Given the description of an element on the screen output the (x, y) to click on. 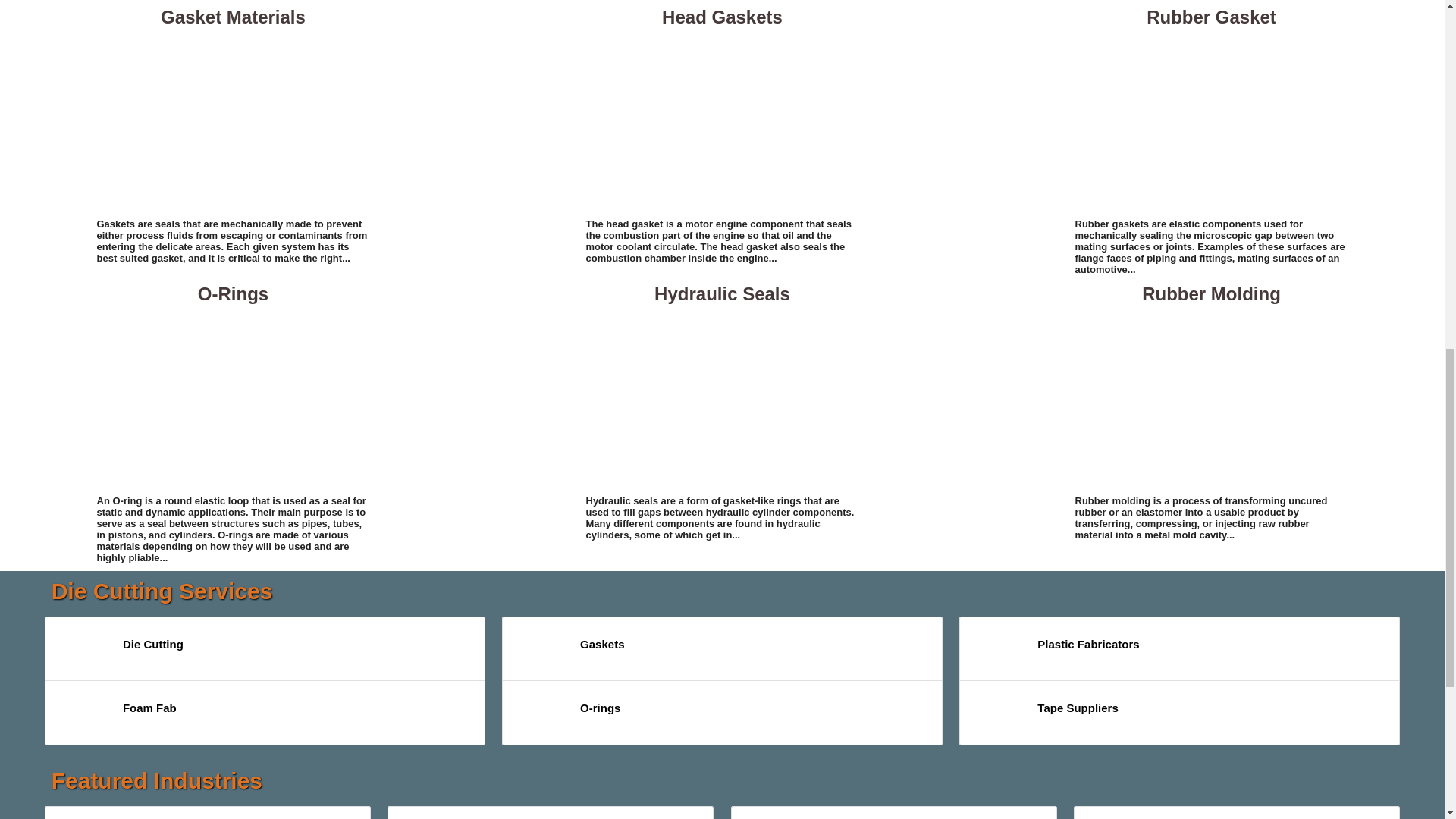
Rubber Gasket (1211, 121)
Gaskets (541, 651)
Foam Fabricating (84, 715)
O-Rings (233, 398)
Die Cutting (84, 651)
O-rings Manufacturers (541, 715)
Hydraulic Seals (722, 398)
Gasket Materials (233, 121)
Head Gaskets (722, 121)
Rubber Molding (1211, 398)
